Given the description of an element on the screen output the (x, y) to click on. 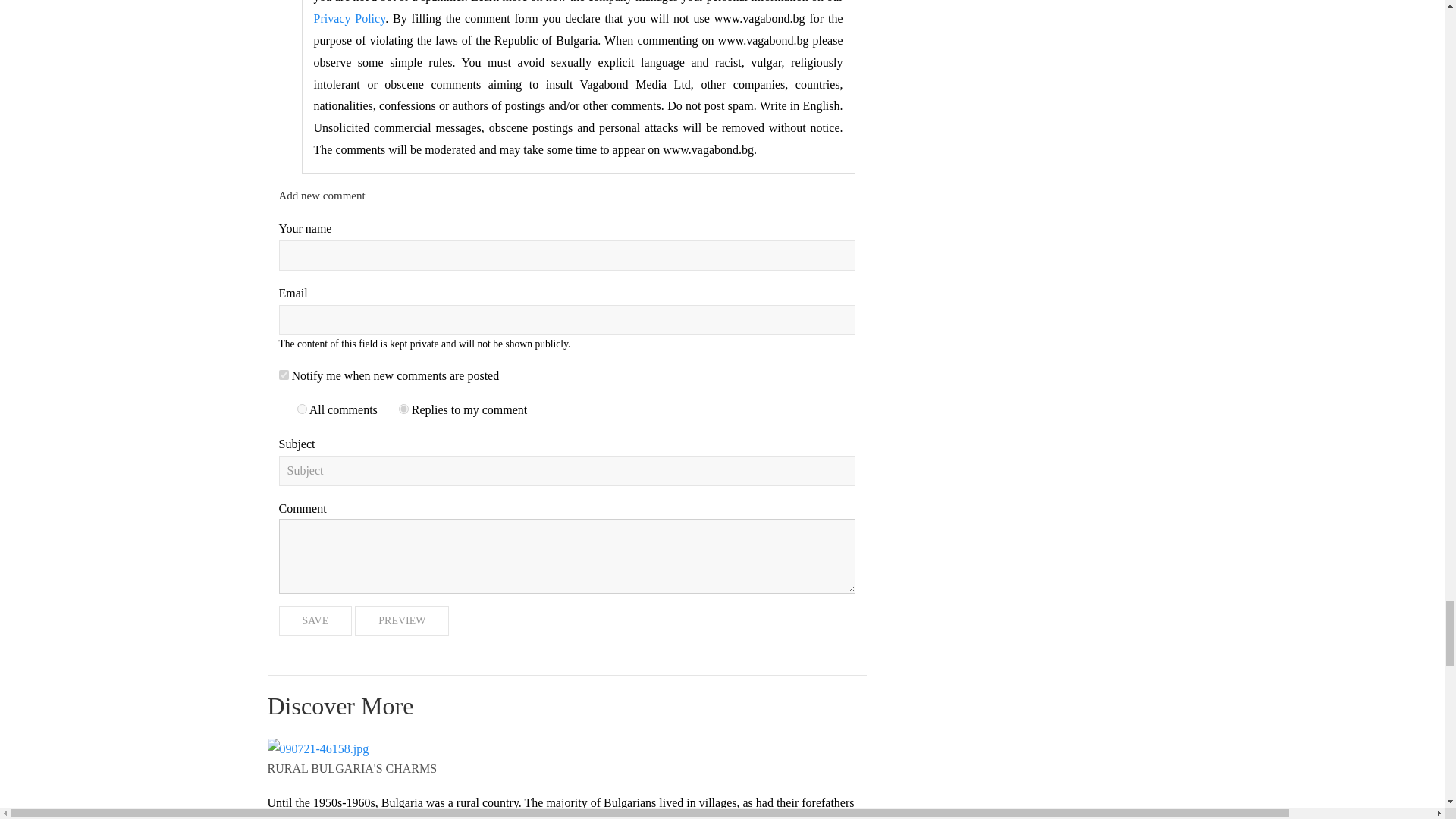
1 (302, 409)
Preview (401, 621)
2 (403, 409)
Save (315, 621)
1 (283, 375)
